Given the description of an element on the screen output the (x, y) to click on. 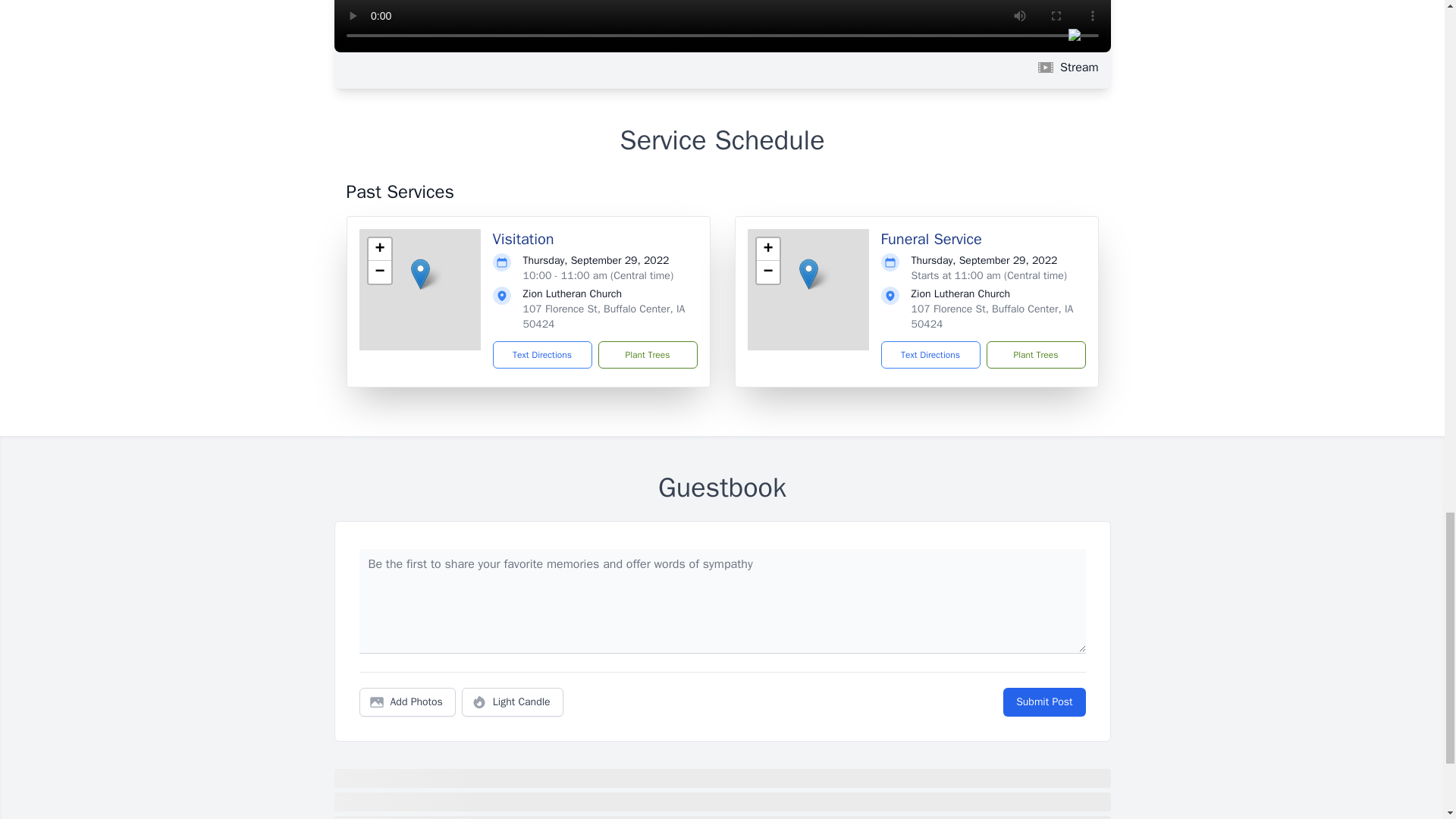
Text Directions (929, 354)
Add Photos (407, 701)
Zoom in (379, 249)
Zoom out (767, 272)
107 Florence St, Buffalo Center, IA 50424 (603, 316)
Zoom in (767, 249)
Submit Post (1043, 701)
Plant Trees (646, 354)
Light Candle (512, 701)
Zoom out (379, 272)
Text Directions (542, 354)
107 Florence St, Buffalo Center, IA 50424 (992, 316)
Plant Trees (1034, 354)
